Given the description of an element on the screen output the (x, y) to click on. 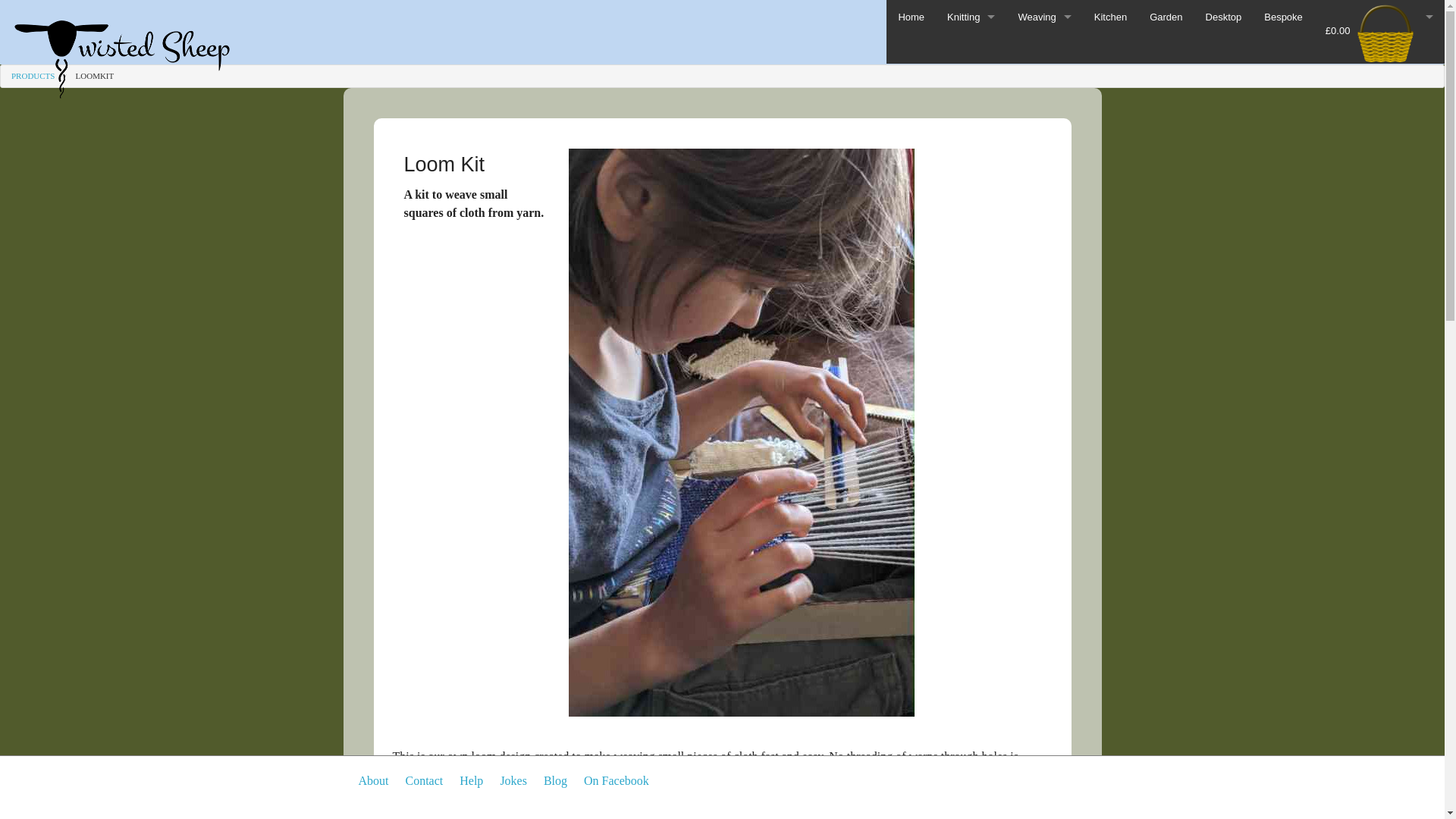
Addi Knitting Products (971, 221)
Loom Tools (1043, 153)
Bespoke (1283, 17)
Help (471, 781)
Buttons (971, 119)
Twisted Sheep (121, 49)
Desktop (1223, 17)
Home (911, 17)
Looms (1043, 119)
Kitchen (1110, 17)
